Given the description of an element on the screen output the (x, y) to click on. 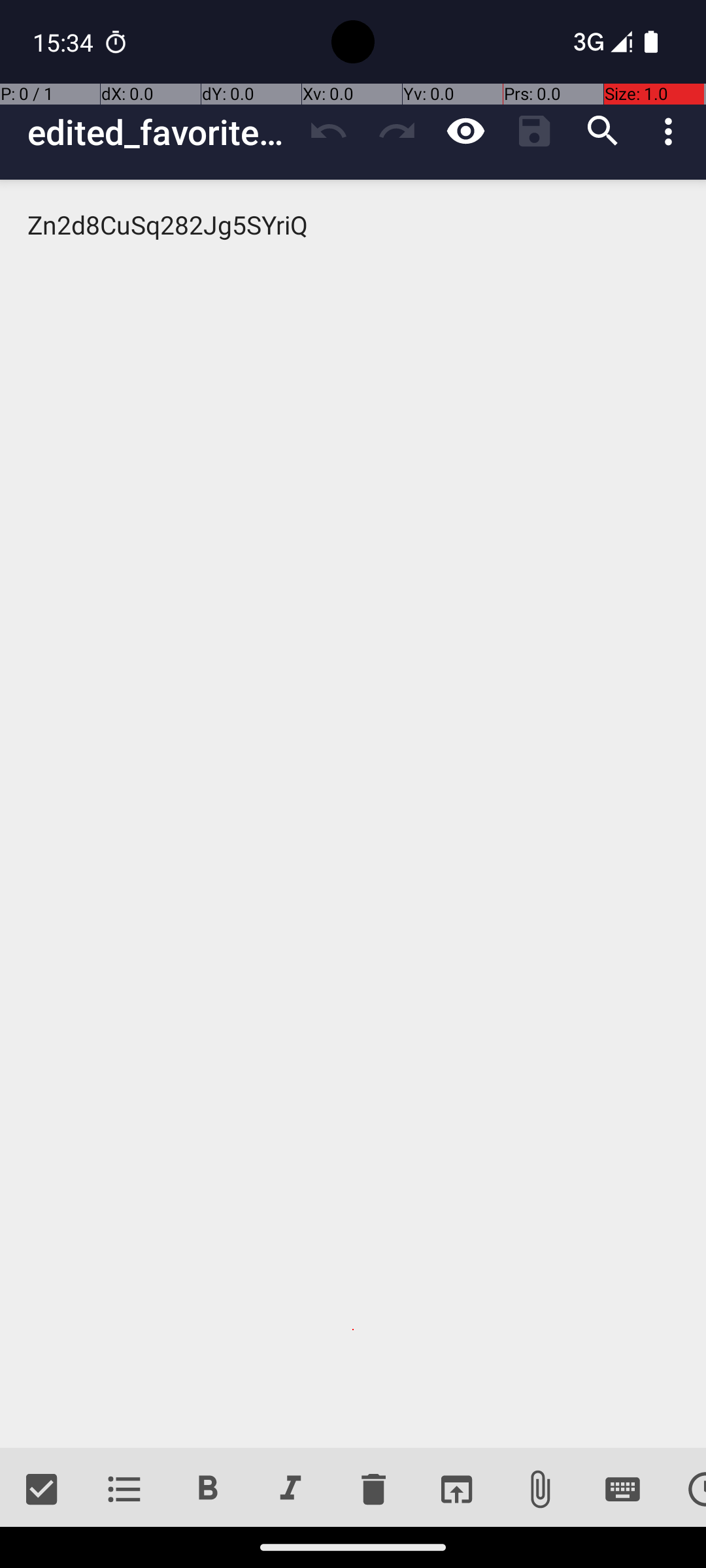
edited_favorite_book_quotes Element type: android.widget.TextView (160, 131)
Zn2d8CuSq282Jg5SYriQ
 Element type: android.widget.EditText (353, 813)
